Given the description of an element on the screen output the (x, y) to click on. 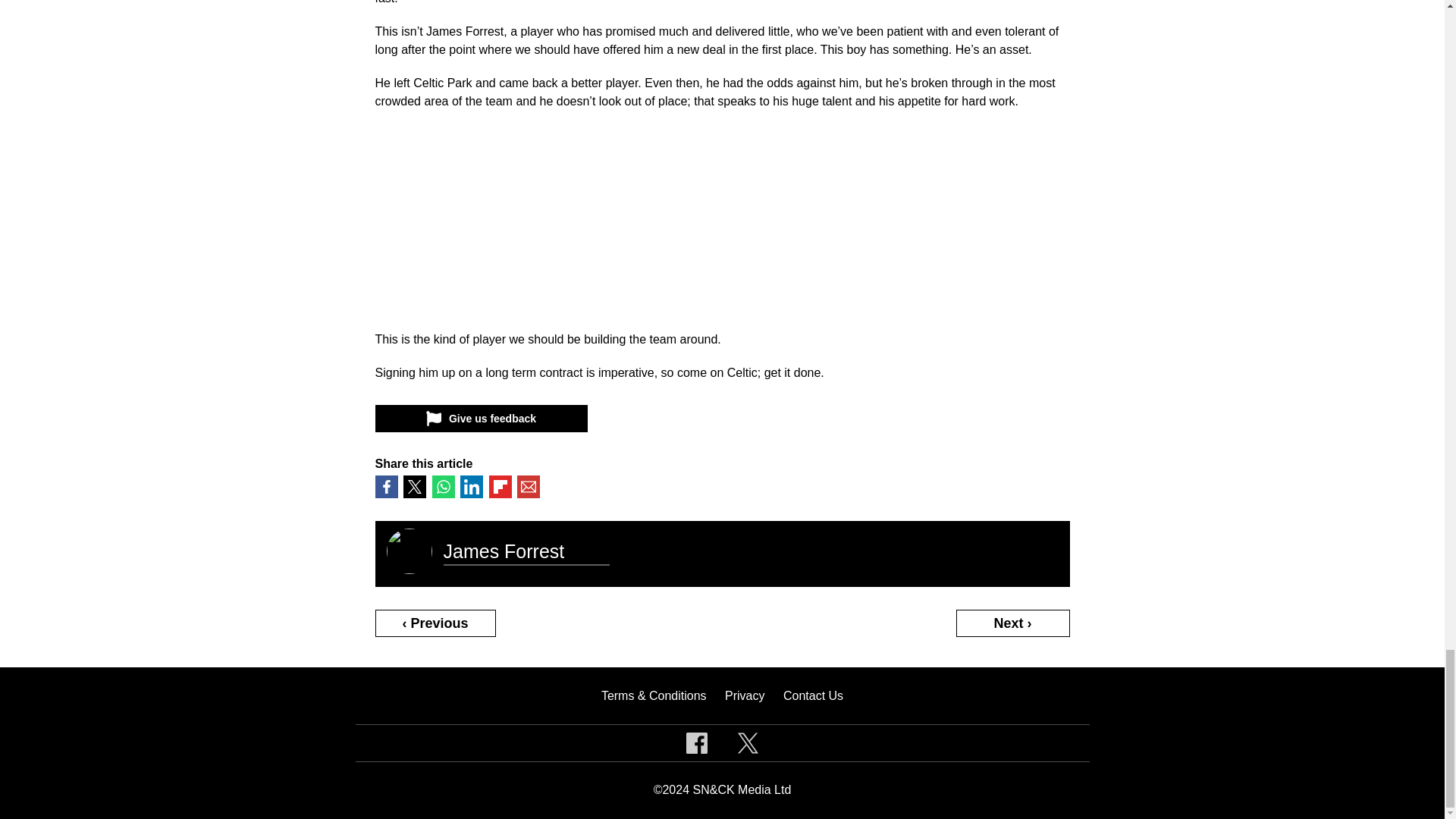
share on Facebook (385, 486)
Give us feedback (480, 418)
share on Twitter (414, 486)
